Given the description of an element on the screen output the (x, y) to click on. 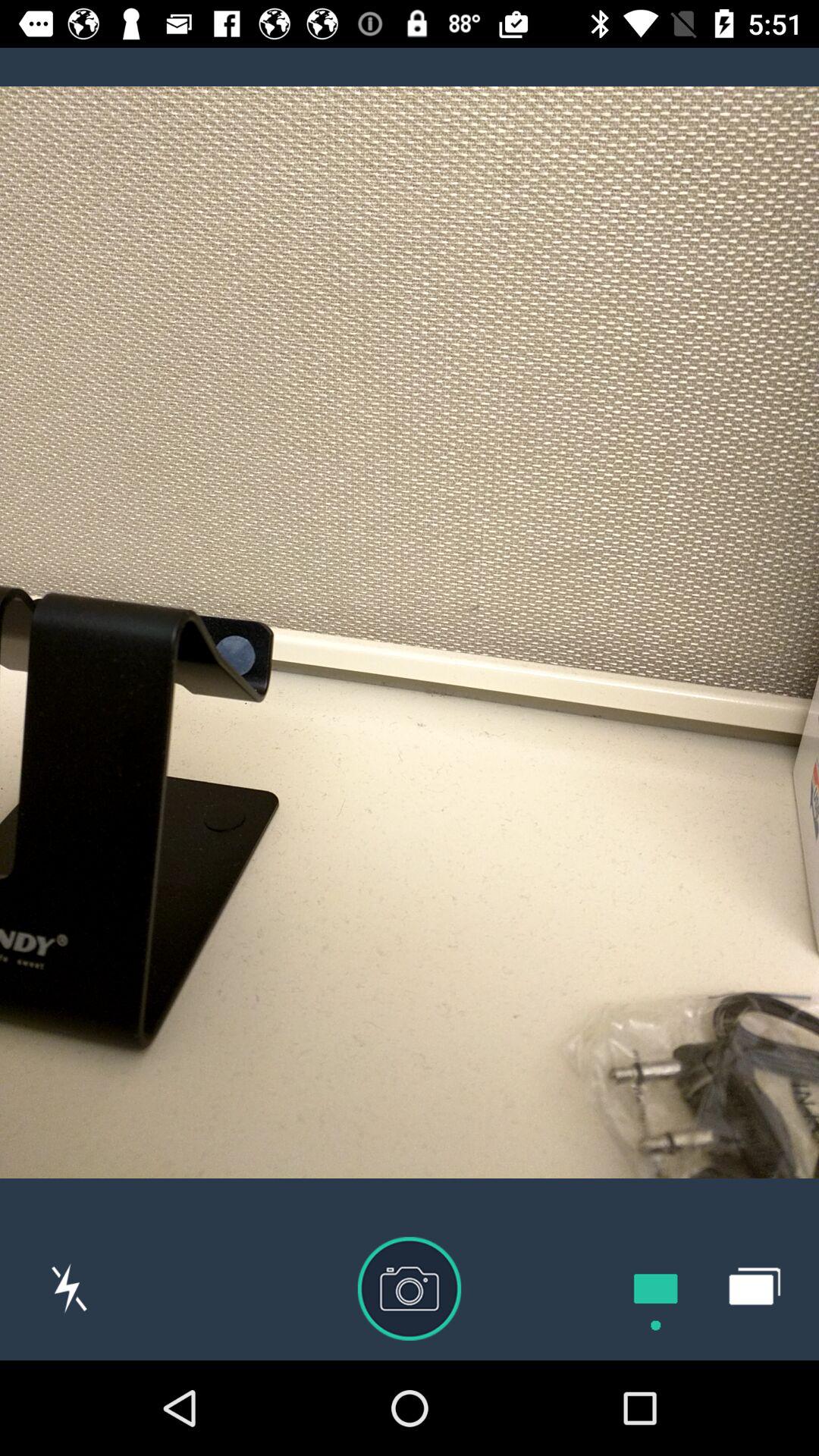
select item at the bottom left corner (68, 1288)
